Given the description of an element on the screen output the (x, y) to click on. 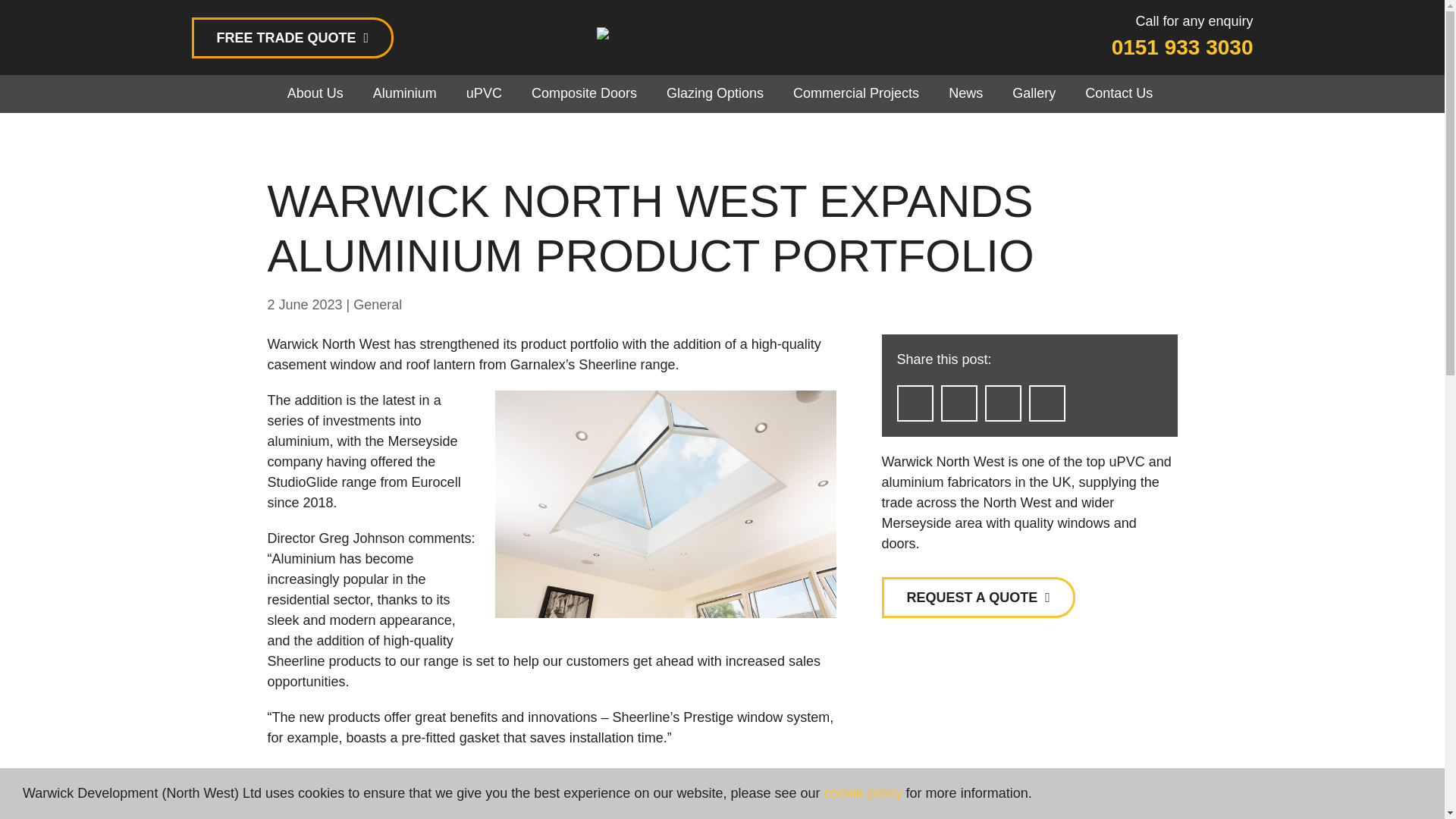
Return to the homepage (721, 37)
Aluminium (404, 94)
Share this post via Facebook (958, 402)
About Us (315, 94)
Share this post via Linked In (1045, 402)
get a quote (291, 36)
get a free quote (977, 597)
Share this post via email (914, 402)
Share this post via Twitter (1002, 402)
uPVC (483, 94)
